Given the description of an element on the screen output the (x, y) to click on. 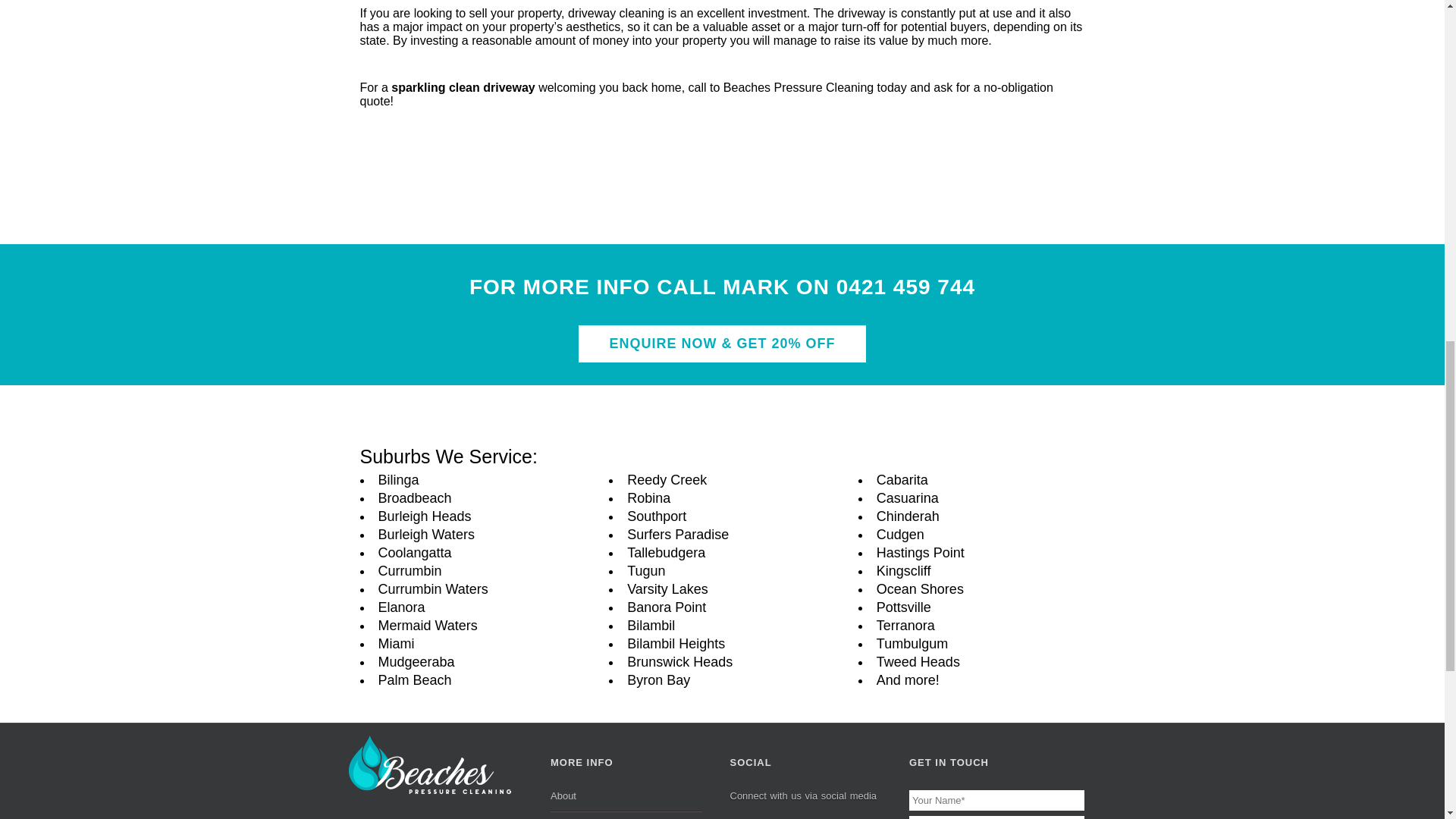
Contact (625, 815)
0421 459 744 (905, 286)
About (625, 799)
